Given the description of an element on the screen output the (x, y) to click on. 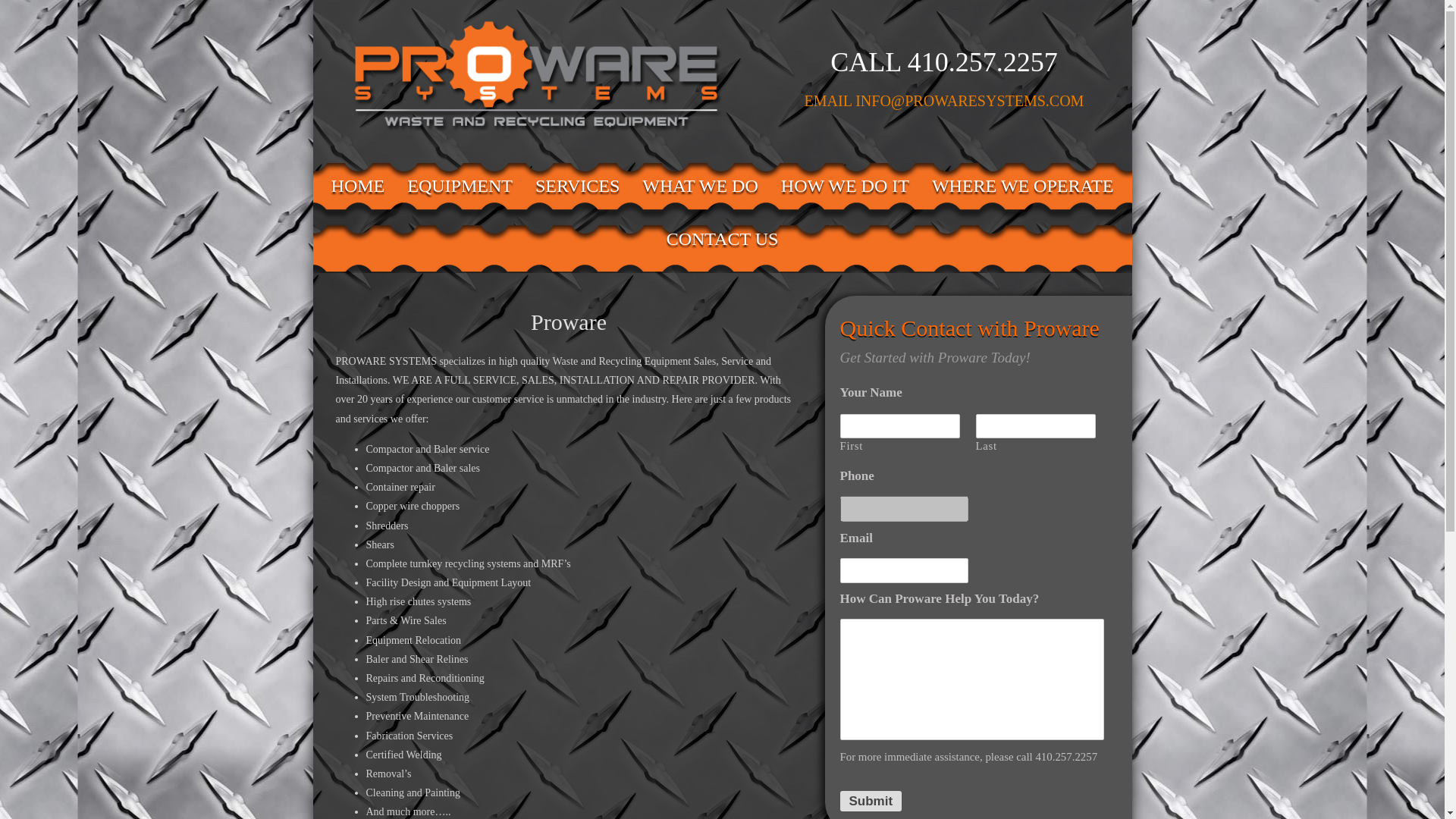
SERVICES (577, 185)
HOW WE DO IT (845, 185)
CONTACT US (722, 238)
WHERE WE OPERATE (1022, 185)
WHAT WE DO (699, 185)
Submit (871, 801)
EQUIPMENT (460, 185)
Submit (871, 801)
HOME (358, 185)
